Given the description of an element on the screen output the (x, y) to click on. 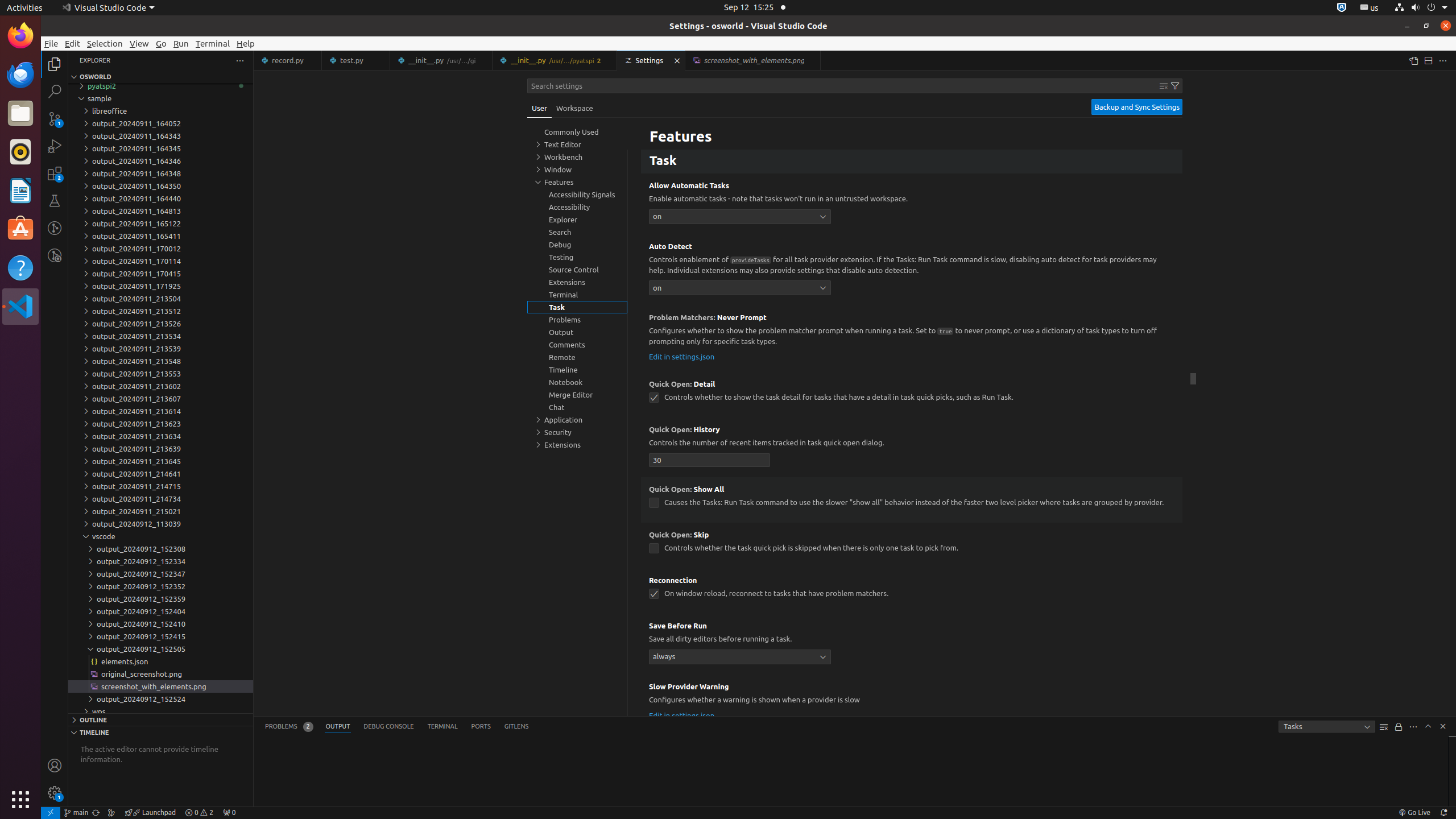
Run and Debug (Ctrl+Shift+D) Element type: page-tab (54, 145)
Clear Output Element type: push-button (1383, 726)
No Ports Forwarded Element type: push-button (228, 812)
Maximize Panel Size Element type: check-box (1427, 726)
